Given the description of an element on the screen output the (x, y) to click on. 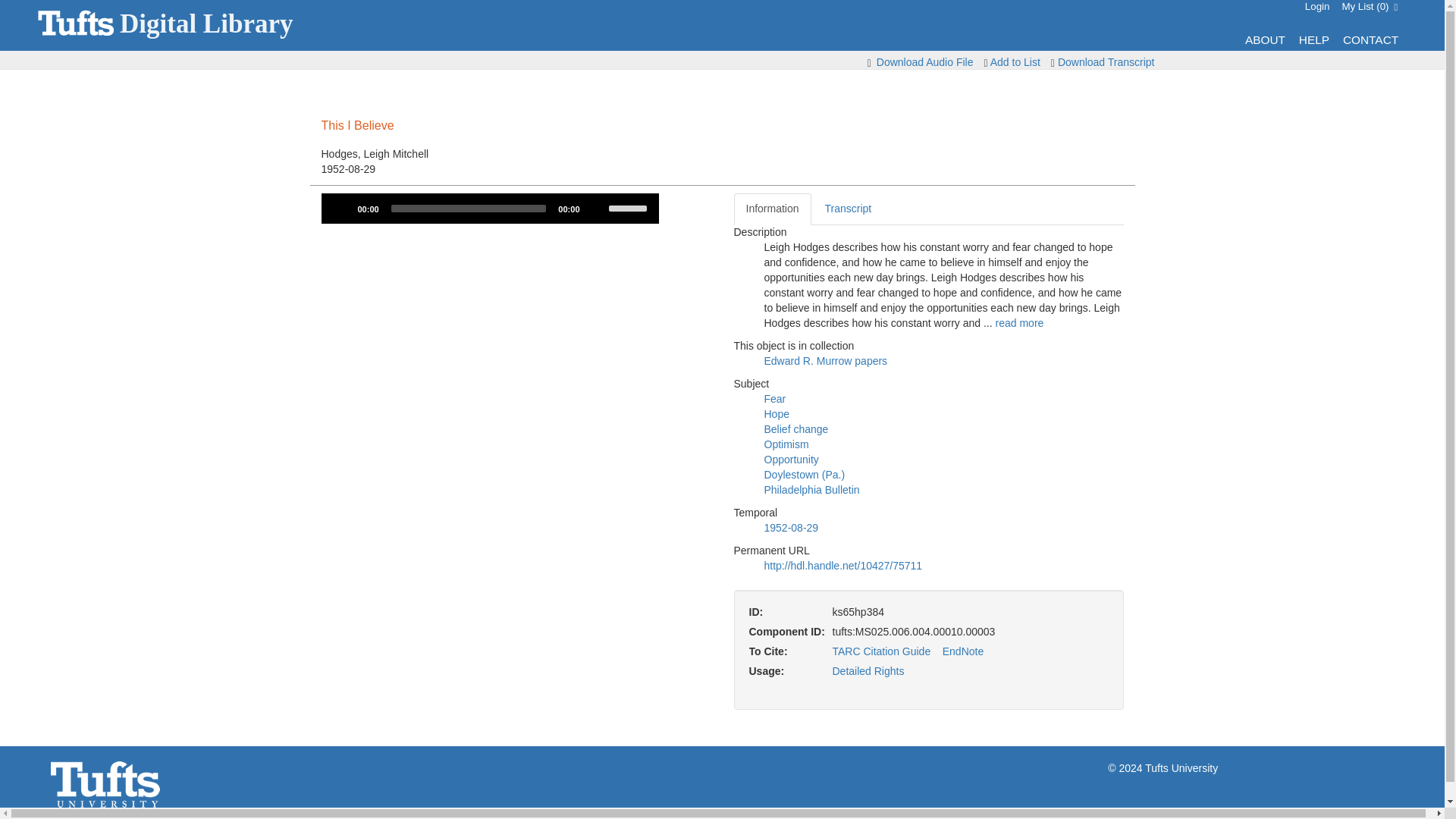
Login (1317, 6)
HELP (1313, 39)
Fear (775, 398)
Download Audio File (925, 61)
read more (1019, 322)
Mute (596, 208)
Transcript (847, 209)
ABOUT (1264, 39)
EndNote (963, 651)
Belief change (796, 428)
CONTACT (1369, 39)
Play (341, 208)
Opportunity (791, 459)
Optimism (786, 444)
Edward R. Murrow papers (826, 360)
